Given the description of an element on the screen output the (x, y) to click on. 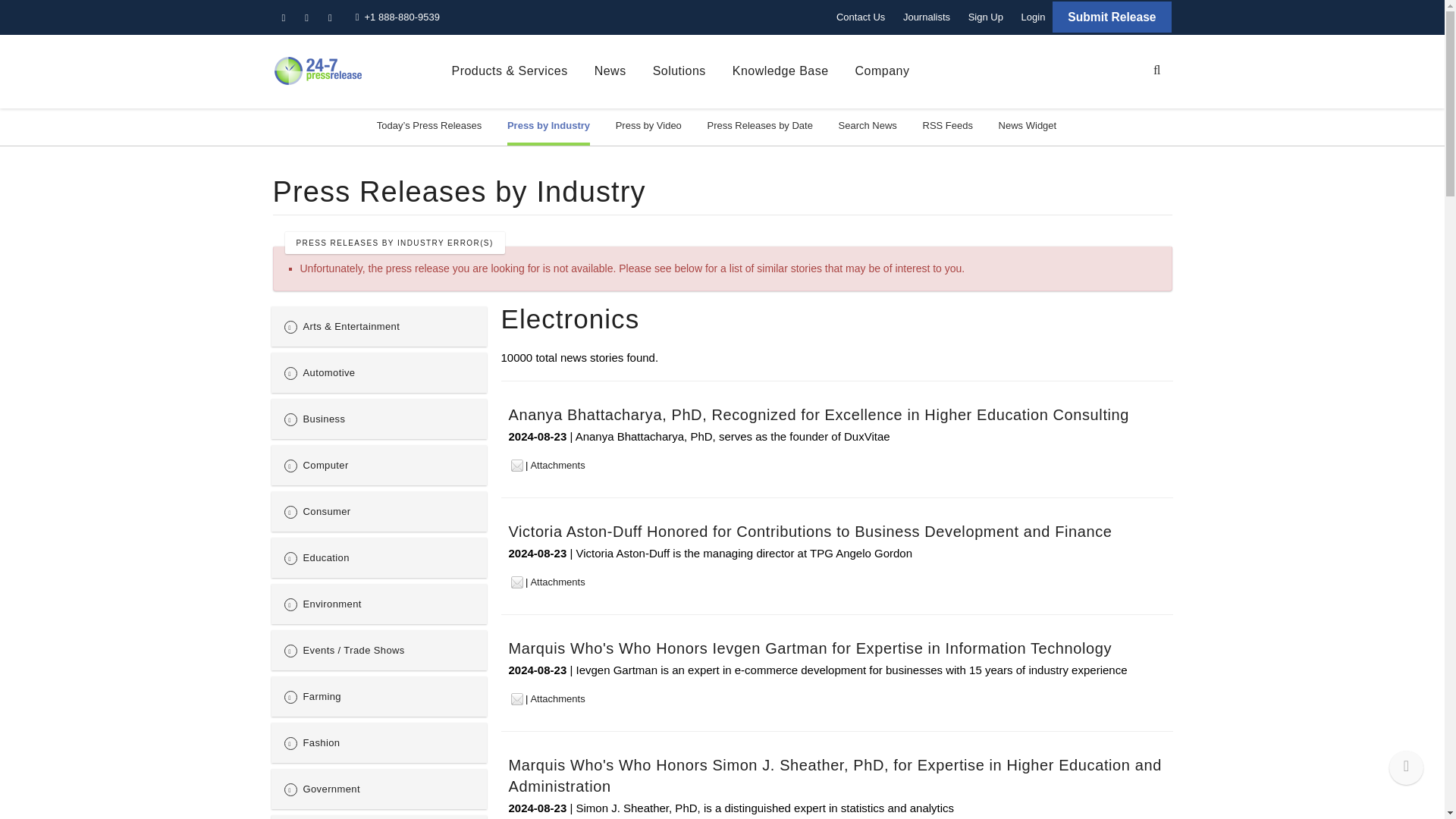
Contact Us (860, 16)
Journalists (926, 16)
Login (1032, 16)
Sign Up (985, 16)
Knowledge Base (780, 71)
Solutions (679, 71)
Submit Release (1111, 16)
Company (882, 71)
